Given the description of an element on the screen output the (x, y) to click on. 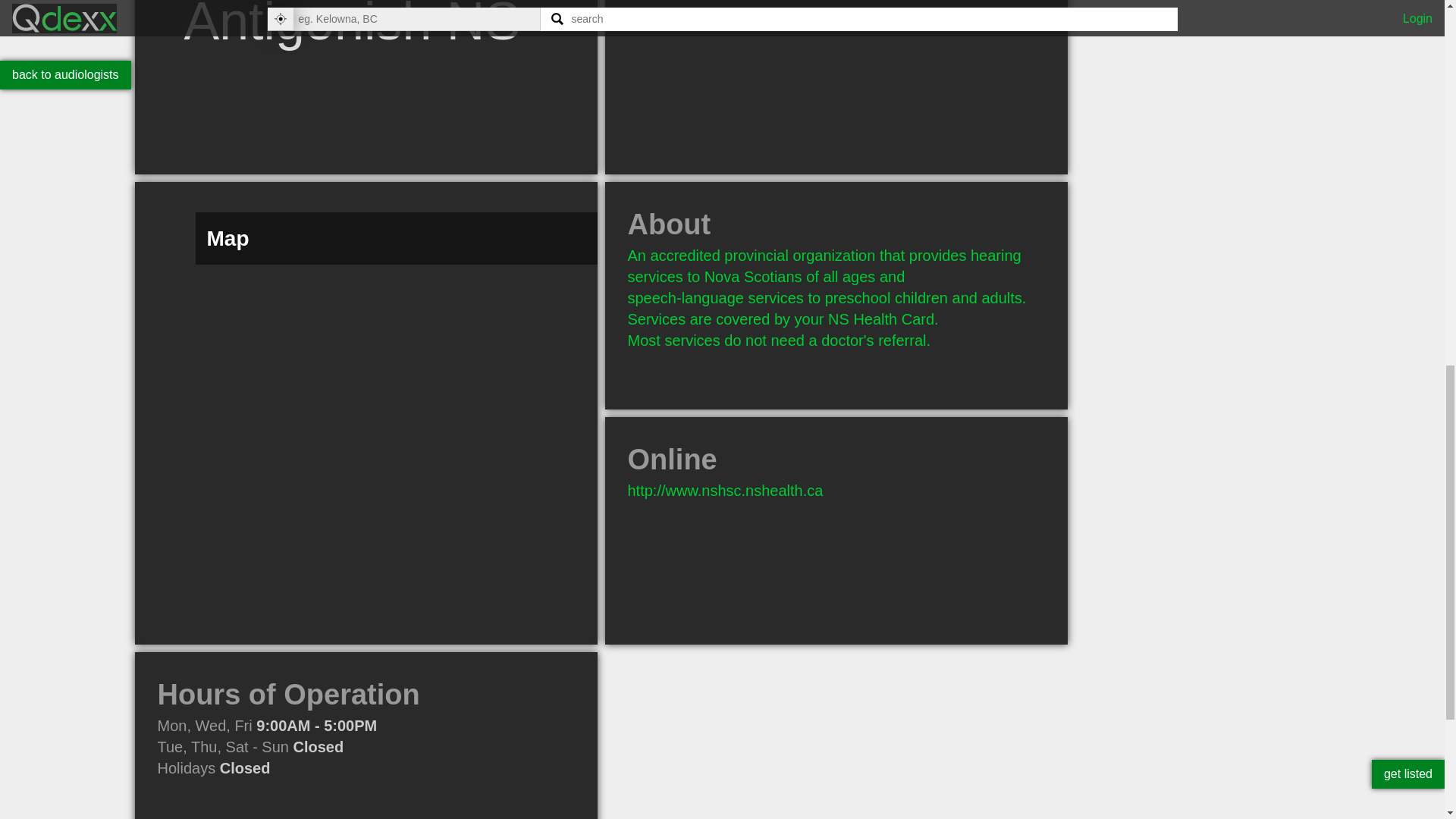
Map (365, 640)
